Given the description of an element on the screen output the (x, y) to click on. 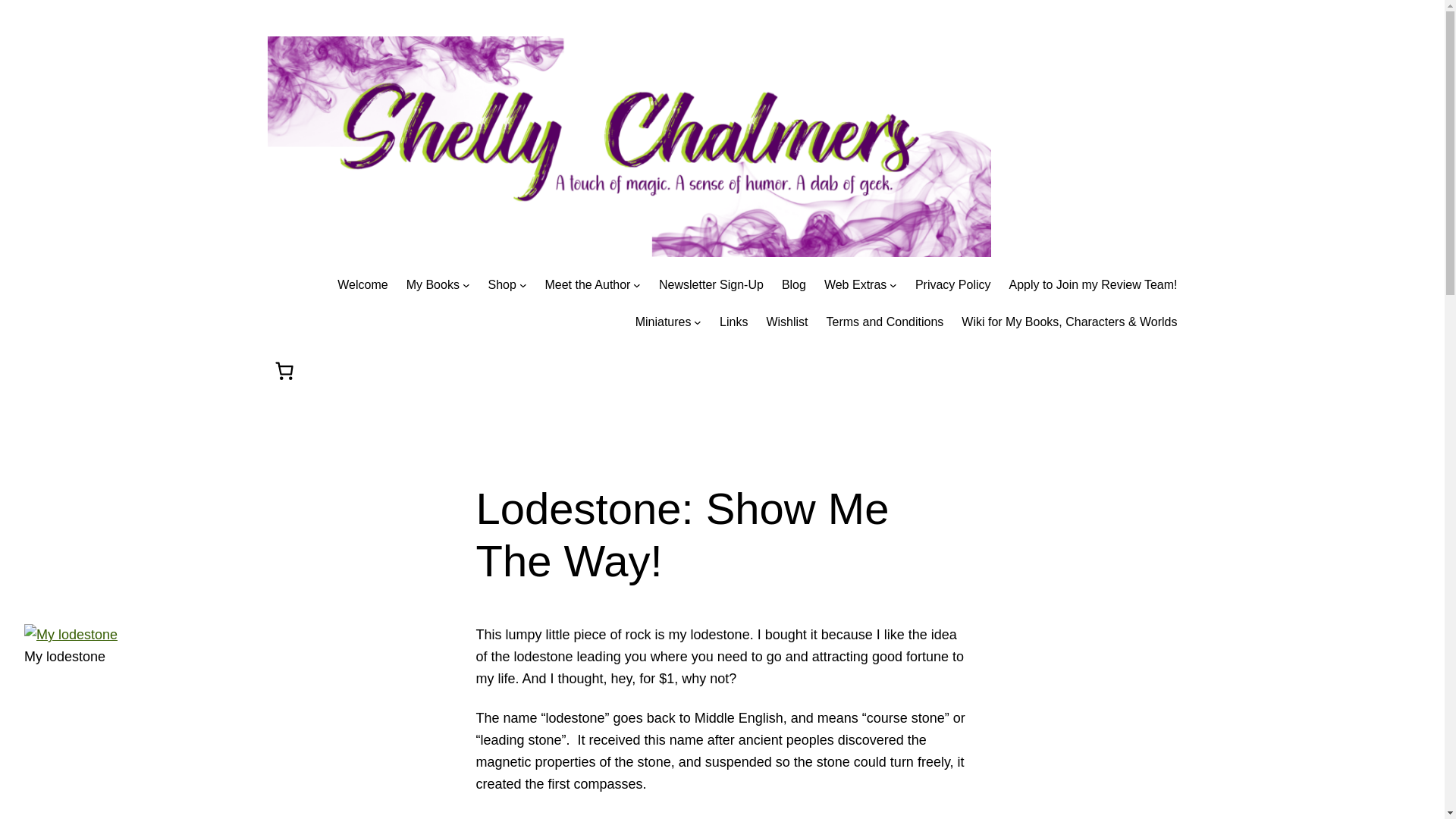
Shop (501, 284)
Miniatures (662, 322)
Web Extras (855, 284)
Privacy Policy (953, 284)
Meet the Author (587, 284)
Blog (793, 284)
Newsletter Sign-Up (710, 284)
My Books (433, 284)
Welcome (362, 284)
Apply to Join my Review Team! (1092, 284)
